Given the description of an element on the screen output the (x, y) to click on. 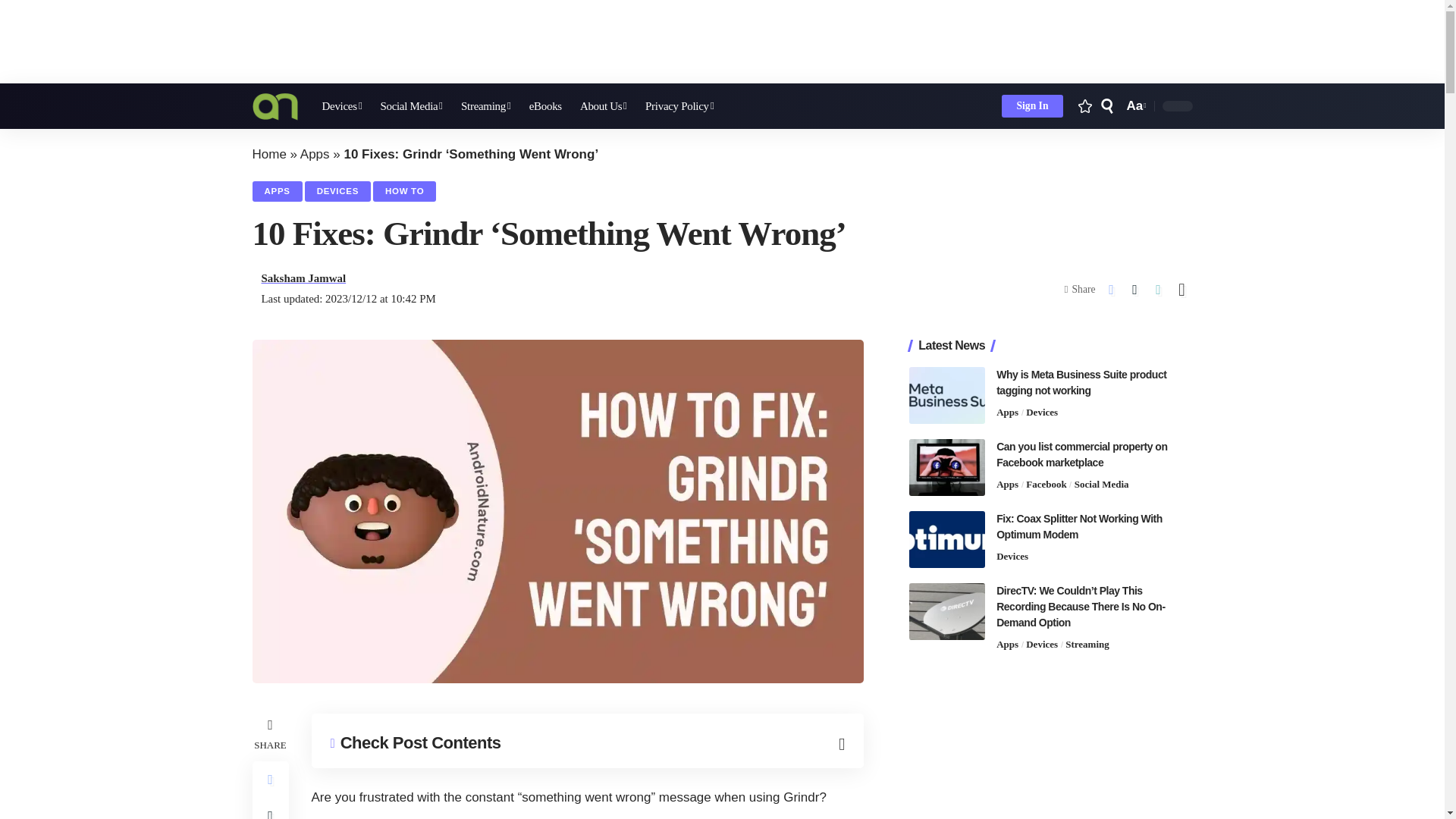
Fix: Coax Splitter Not Working With Optimum Modem (946, 539)
Devices (342, 105)
Can you list commercial property on Facebook marketplace (946, 467)
About Us (603, 105)
Privacy Policy (679, 105)
Android Nature (274, 105)
Streaming (485, 105)
Why is Meta Business Suite product tagging not working (946, 395)
Social Media (411, 105)
eBooks (544, 105)
